Given the description of an element on the screen output the (x, y) to click on. 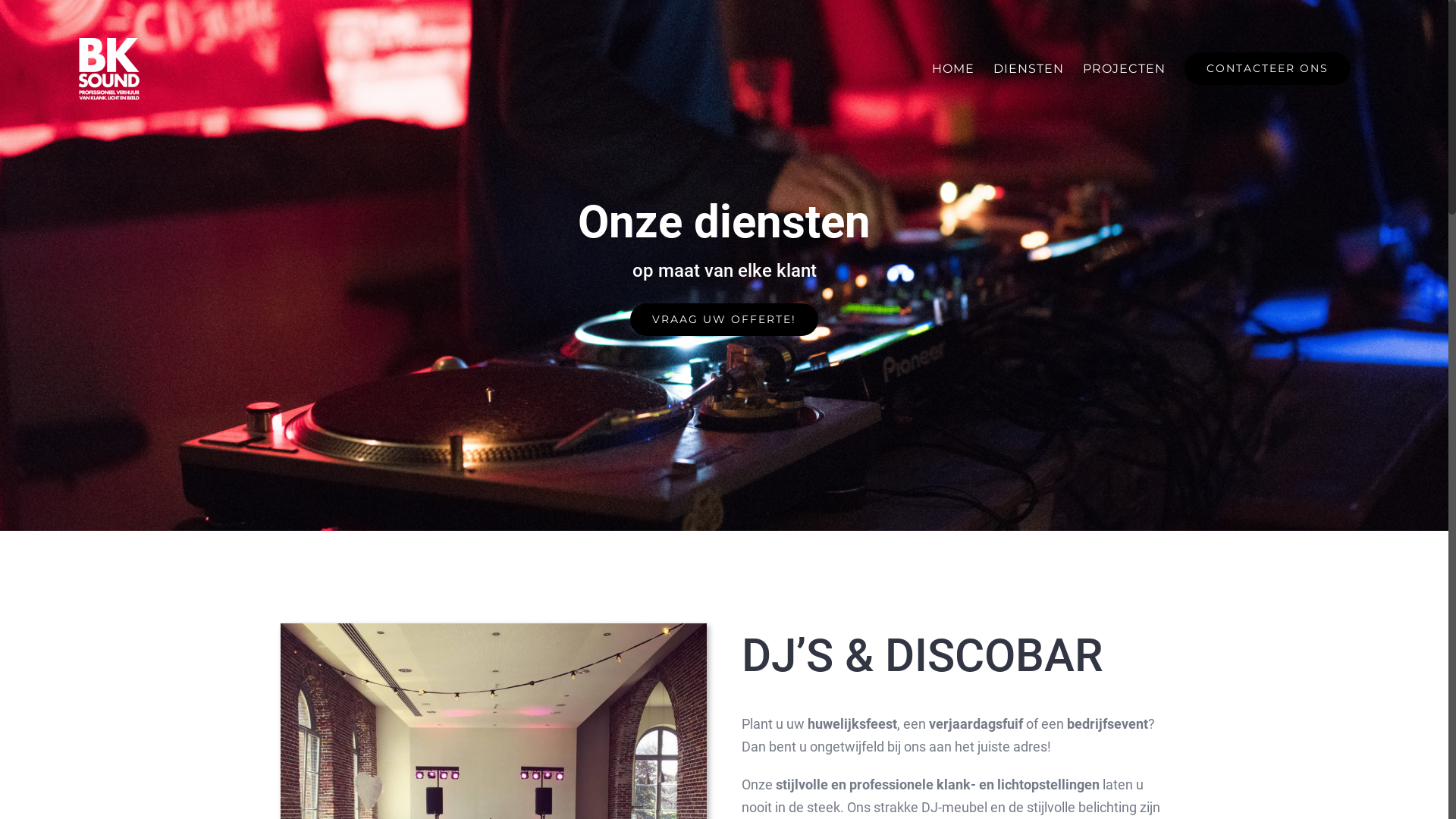
VRAAG UW OFFERTE! Element type: text (724, 319)
PROJECTEN Element type: text (1123, 67)
CONTACTEER ONS Element type: text (1267, 67)
DIENSTEN Element type: text (1028, 67)
HOME Element type: text (952, 67)
